Given the description of an element on the screen output the (x, y) to click on. 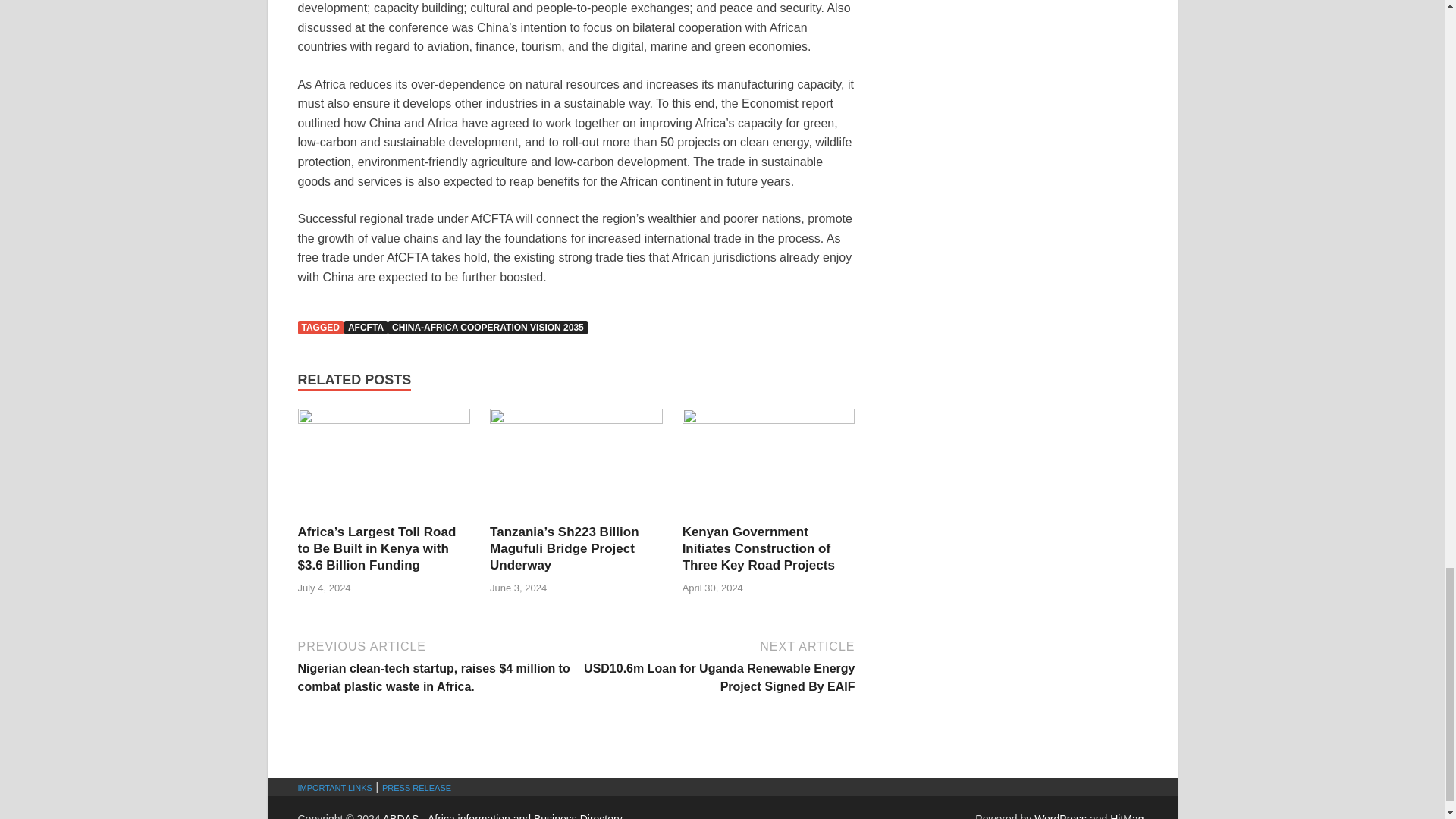
AFCFTA (365, 327)
IMPORTANT LINKS (334, 787)
PRESS RELEASE (416, 787)
CHINA-AFRICA COOPERATION VISION 2035 (488, 327)
